Given the description of an element on the screen output the (x, y) to click on. 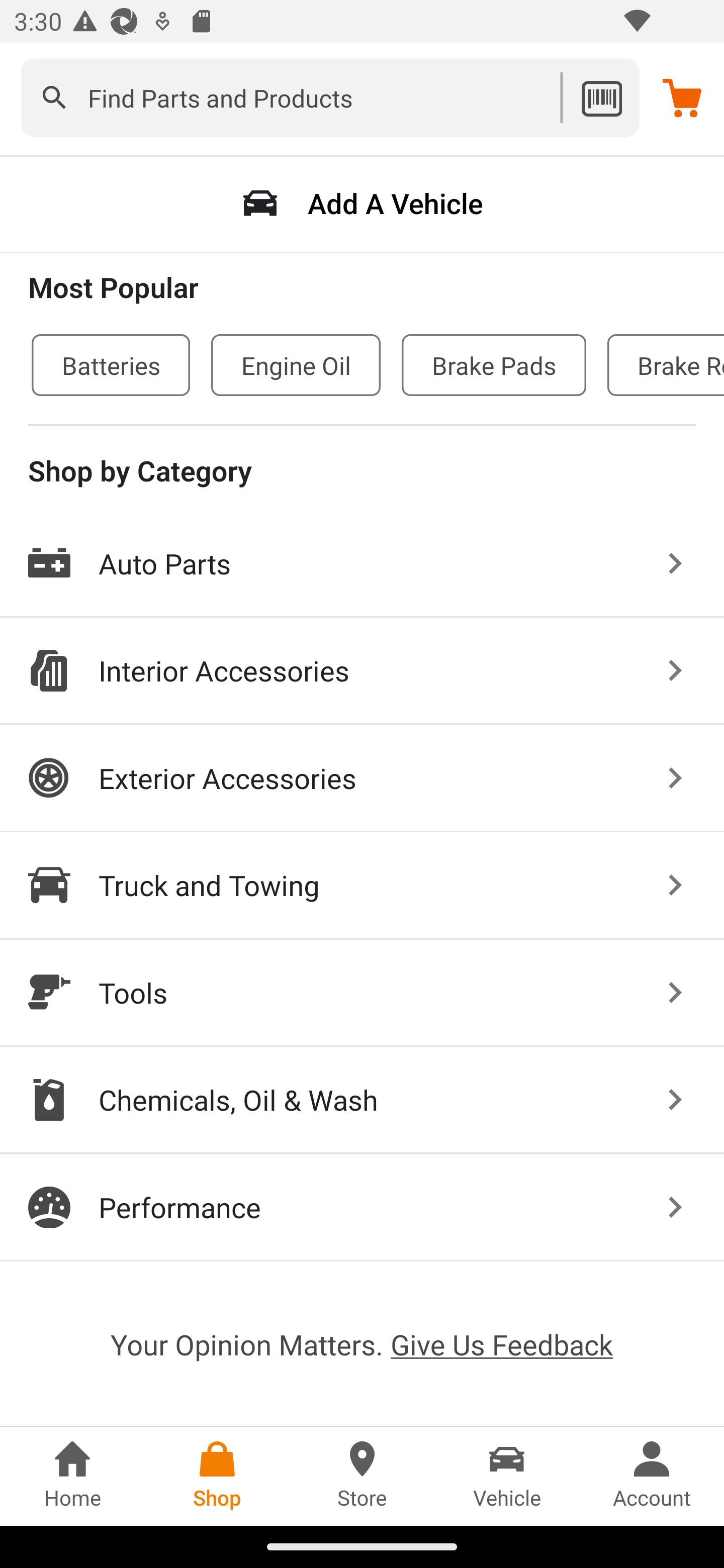
 scan-product-to-search  (601, 97)
 (54, 97)
Cart, no items  (681, 97)
add-vehicle-button  Add A Vehicle (362, 202)
Batteries (110, 364)
Engine Oil (295, 364)
Brake Pads (493, 364)
Brake Rotors (665, 364)
Auto Parts category  Auto Parts  (362, 564)
Truck and Towing category  Truck and Towing  (362, 885)
Tools category  Tools  (362, 993)
Performance category  Performance  (362, 1207)
Home (72, 1475)
Shop (216, 1475)
Store (361, 1475)
Vehicle (506, 1475)
Account (651, 1475)
